Given the description of an element on the screen output the (x, y) to click on. 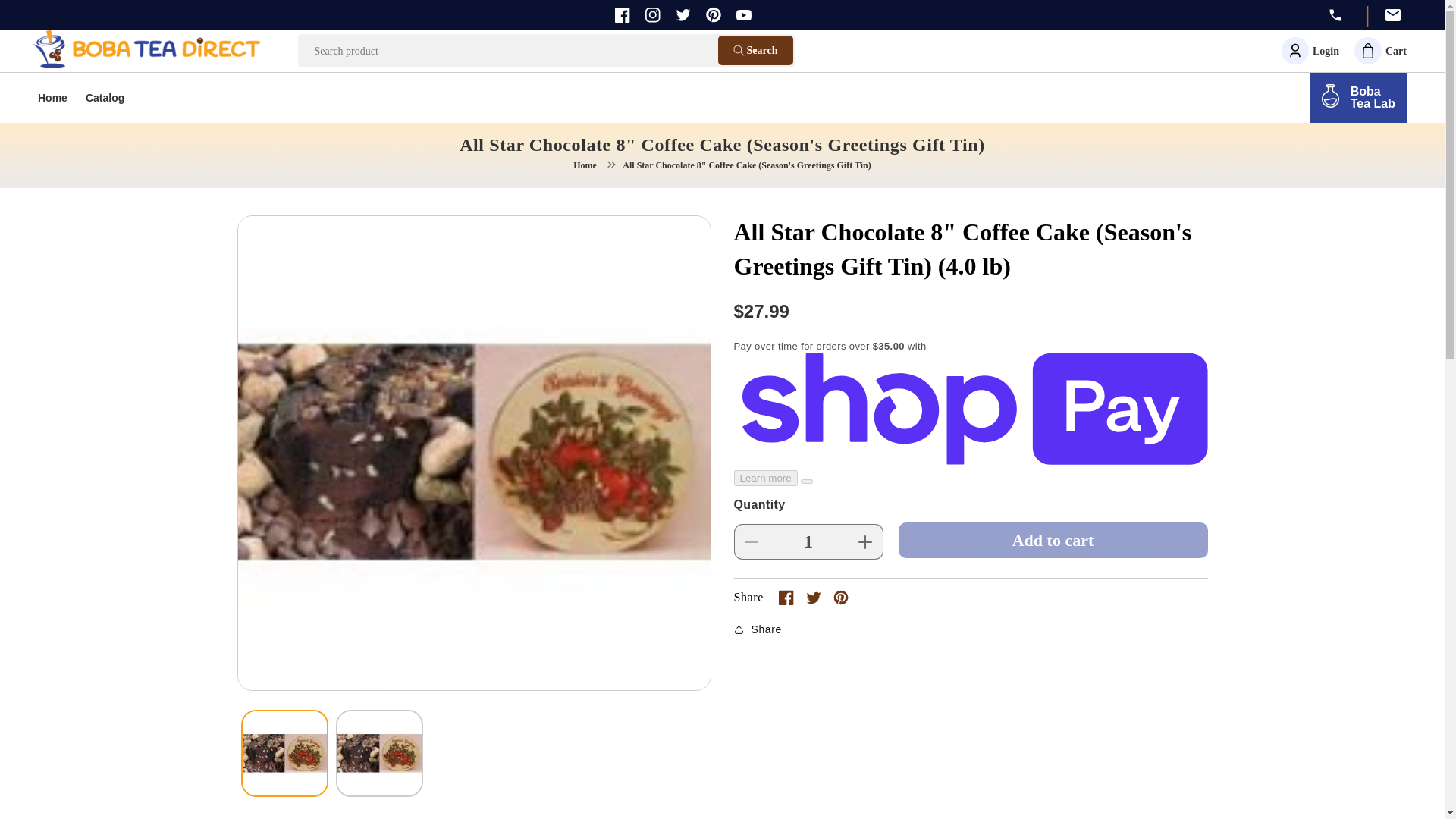
Catalog (105, 97)
Home (1358, 97)
Instagram (53, 97)
YouTube (653, 14)
Cart (743, 14)
Twitter (1380, 50)
Skip to product information (682, 14)
Search (282, 232)
Skip to content (755, 50)
